Given the description of an element on the screen output the (x, y) to click on. 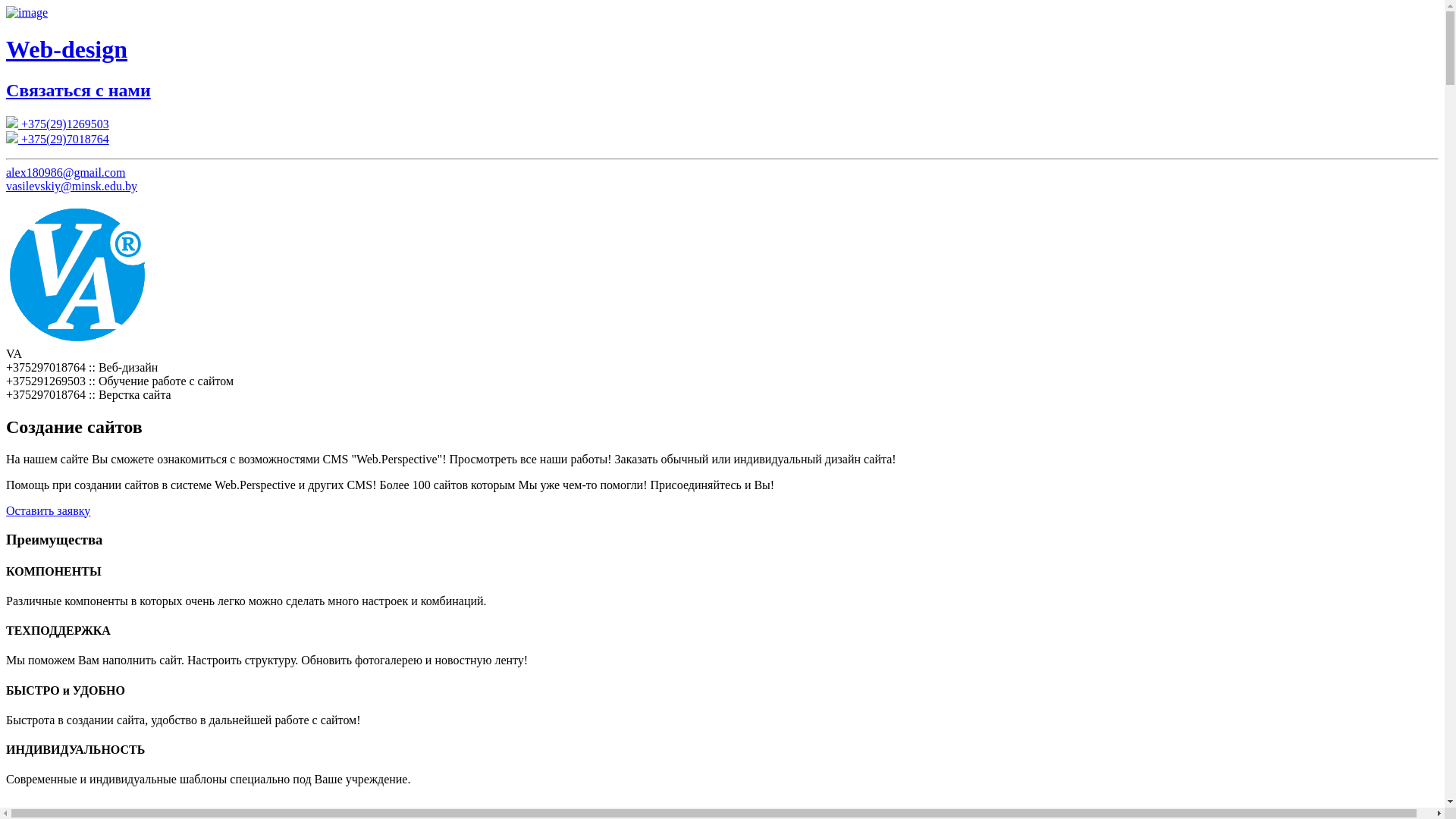
Web-design Element type: text (722, 49)
